Given the description of an element on the screen output the (x, y) to click on. 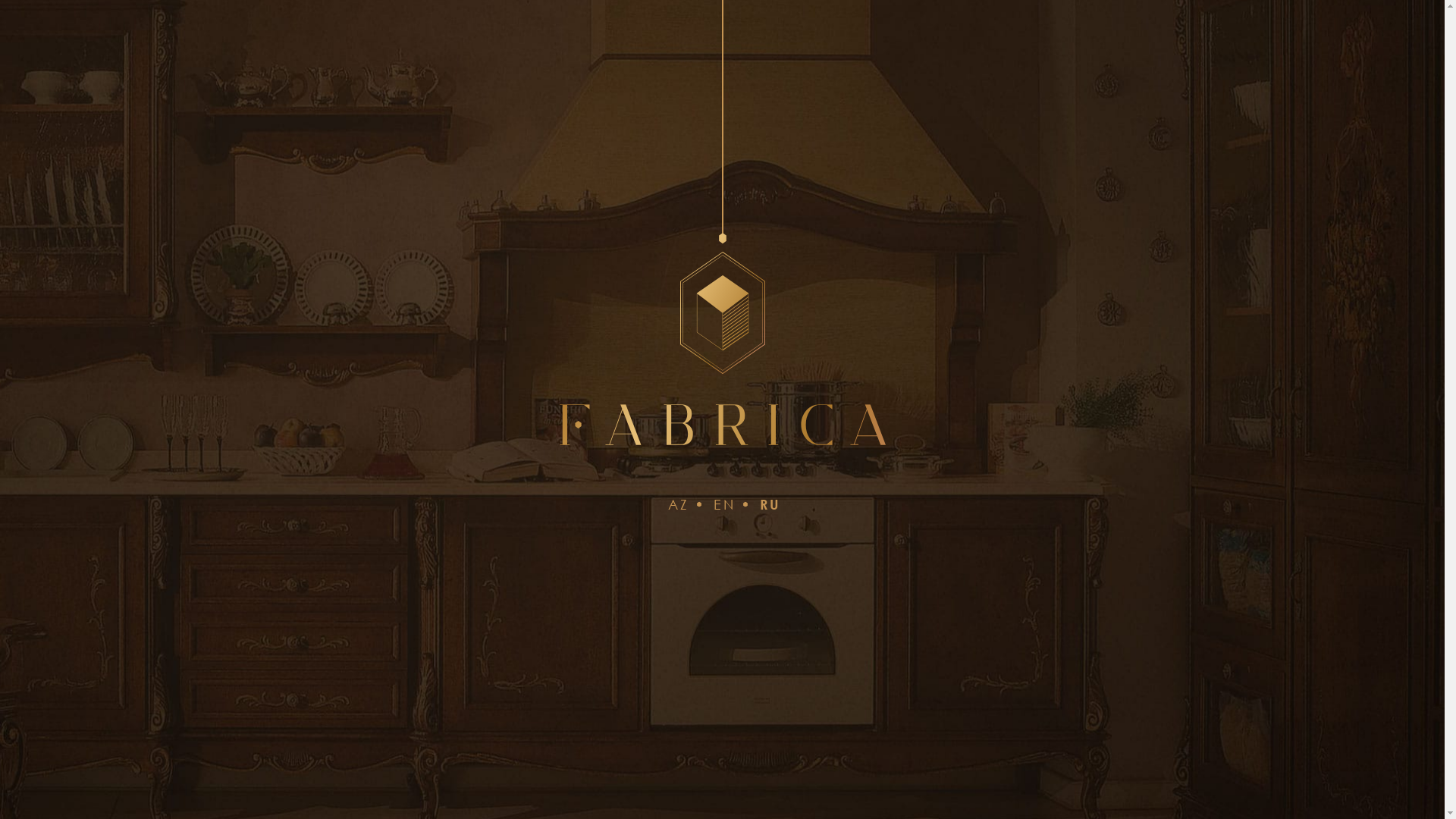
AZ Element type: text (926, 52)
RU Element type: text (770, 503)
AZ Element type: text (678, 503)
FB Element type: text (462, 52)
RU Element type: text (982, 52)
EN Element type: text (954, 52)
EN Element type: text (724, 503)
IN Element type: text (489, 52)
